Given the description of an element on the screen output the (x, y) to click on. 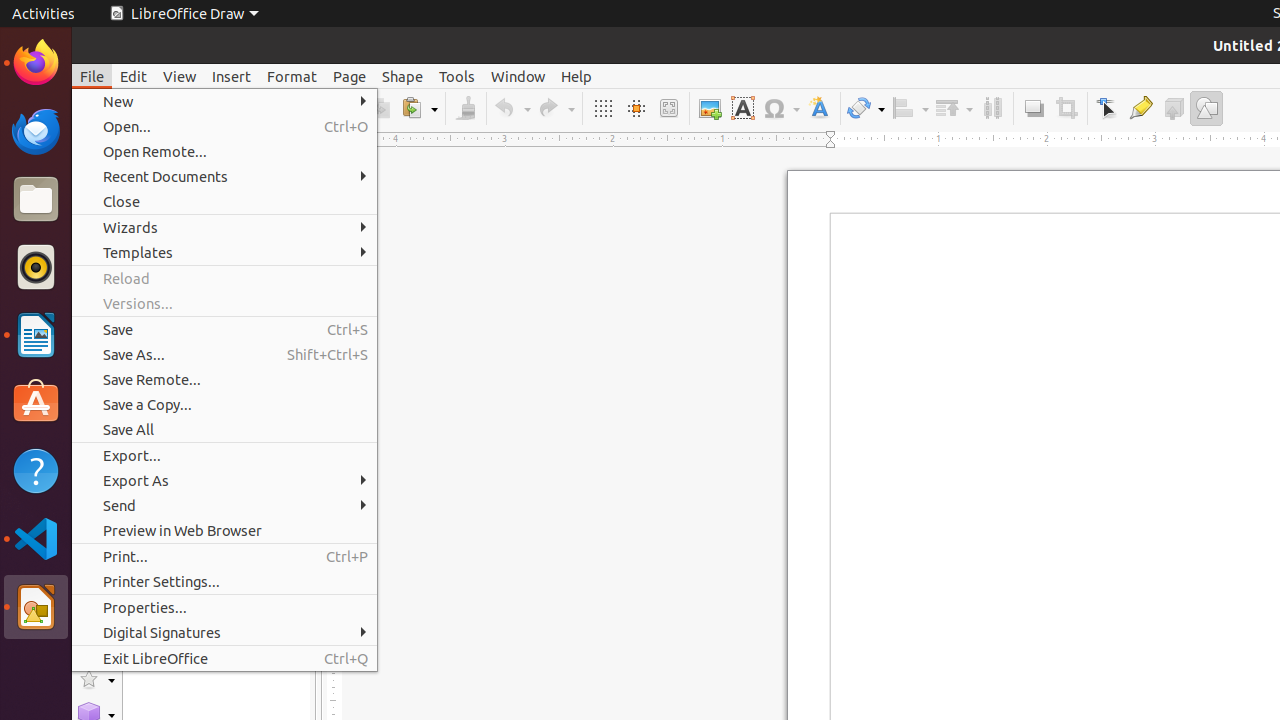
Undo Element type: push-button (512, 108)
Preview in Web Browser Element type: menu-item (224, 530)
Printer Settings... Element type: menu-item (224, 581)
Draw Functions Element type: toggle-button (1206, 108)
Toggle Extrusion Element type: push-button (1173, 108)
